Given the description of an element on the screen output the (x, y) to click on. 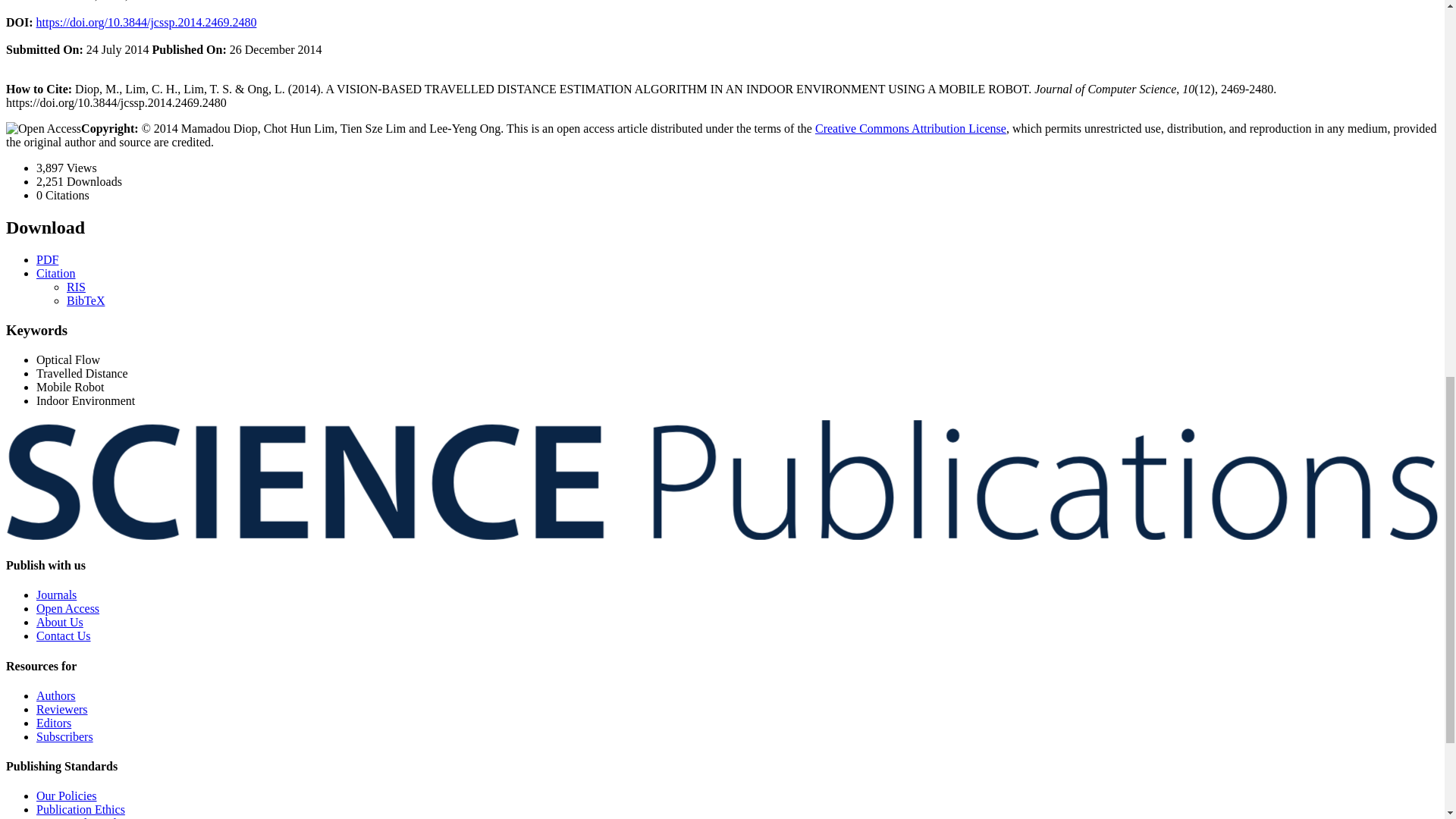
RIS (75, 286)
Citation (55, 273)
PDF (47, 259)
Creative Commons Attribution License (910, 128)
BibTeX (85, 300)
